Given the description of an element on the screen output the (x, y) to click on. 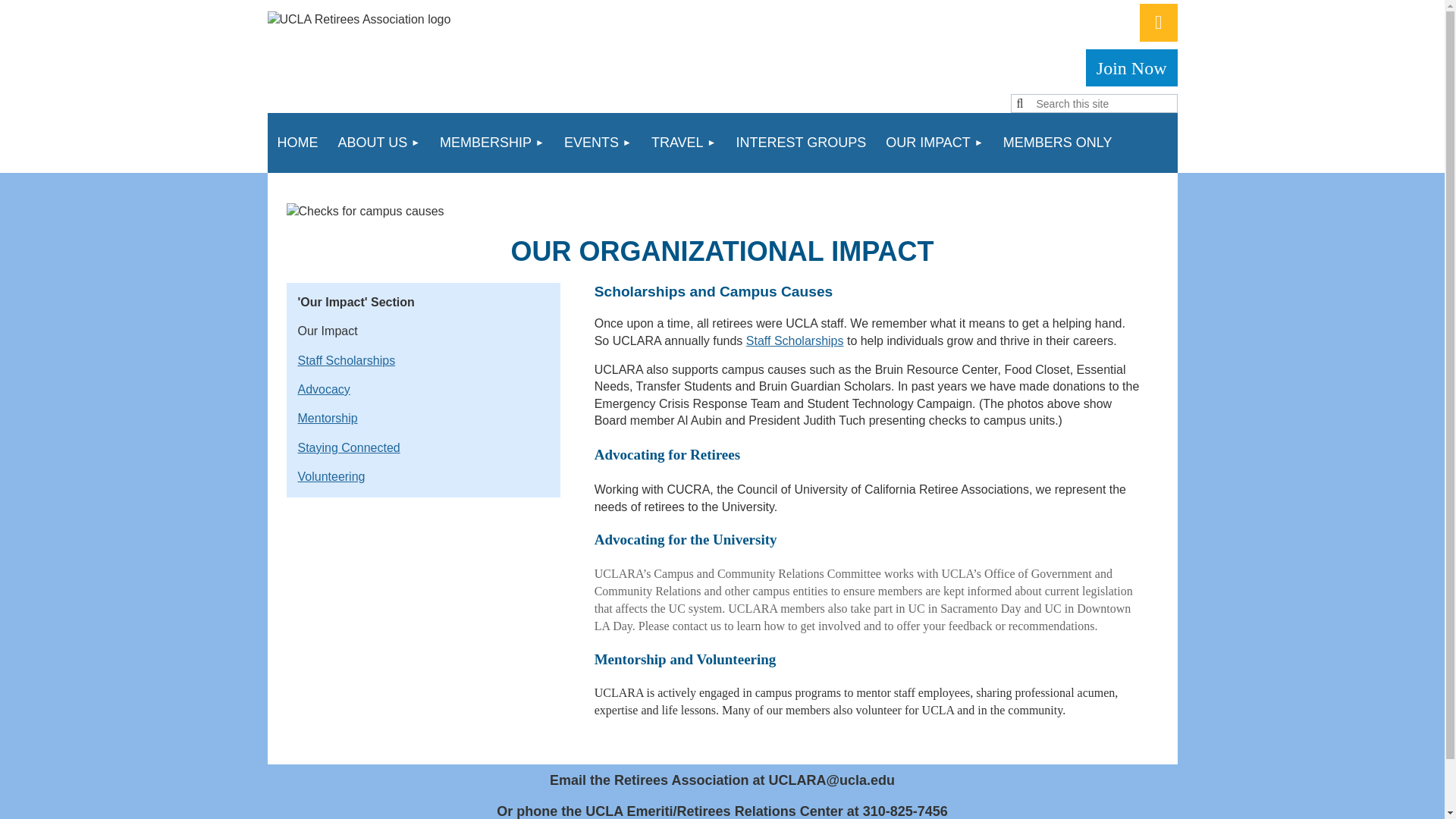
Log in (1157, 22)
